Given the description of an element on the screen output the (x, y) to click on. 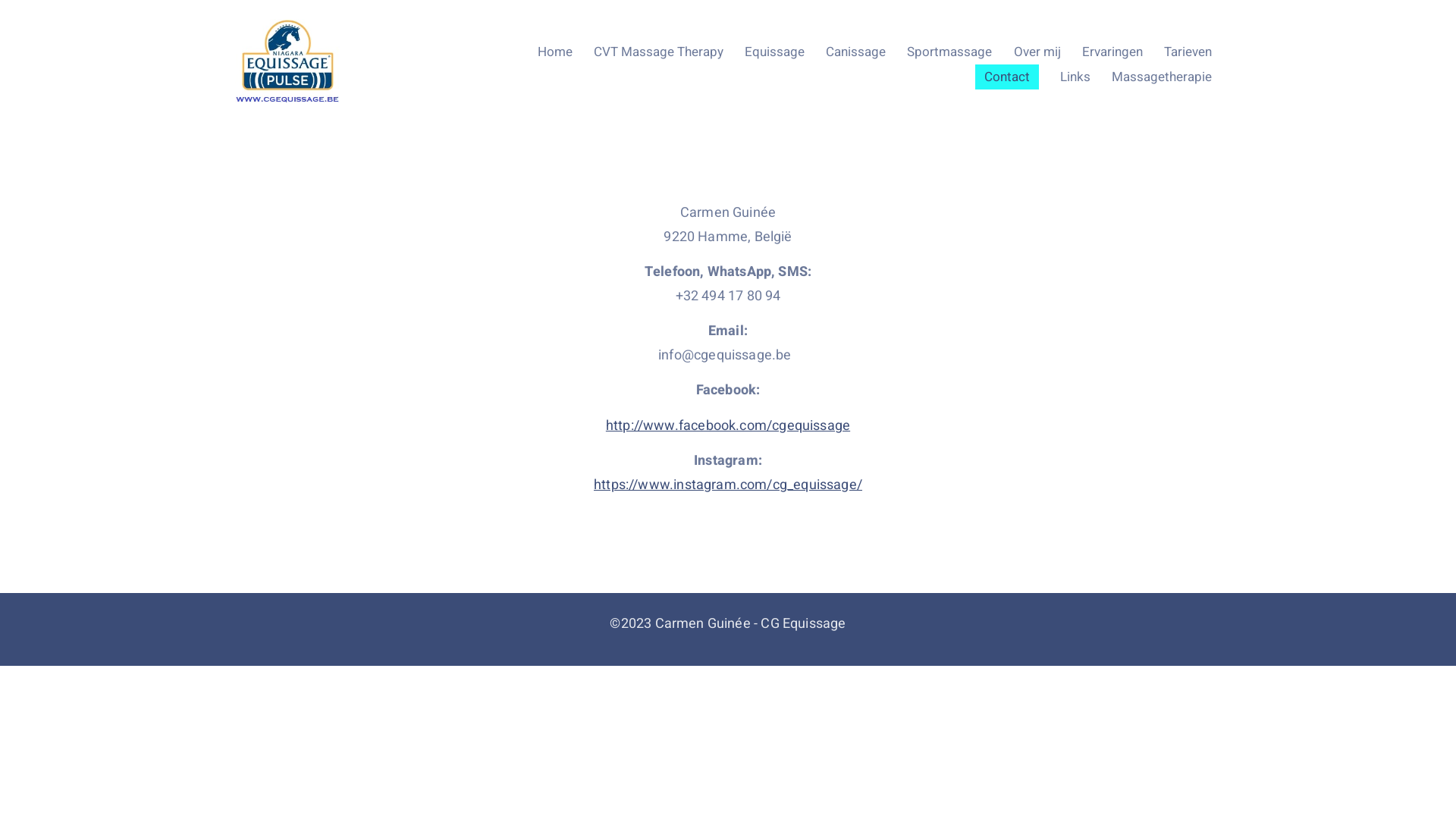
Home Element type: text (554, 51)
Sportmassage Element type: text (949, 51)
Tarieven Element type: text (1187, 51)
https://www.instagram.com/cg_equissage/ Element type: text (727, 484)
Links Element type: text (1075, 76)
Contact Element type: text (1006, 76)
http://www.facebook.com/cgequissage Element type: text (727, 425)
CVT Massage Therapy Element type: text (658, 51)
Over mij Element type: text (1037, 51)
Ervaringen Element type: text (1112, 51)
Equissage Element type: text (774, 51)
Canissage Element type: text (855, 51)
Massagetherapie Element type: text (1161, 76)
